Given the description of an element on the screen output the (x, y) to click on. 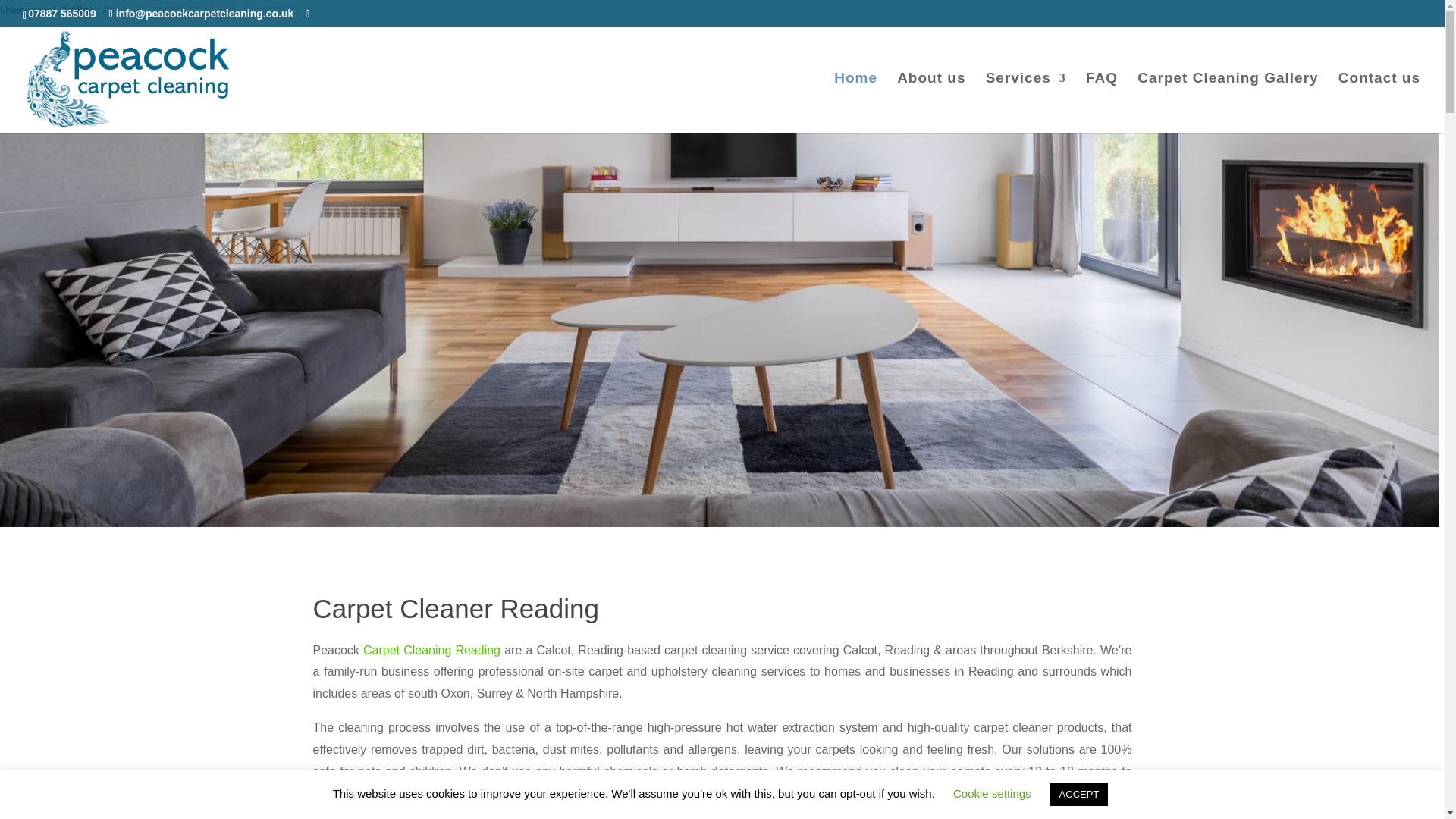
Contact us (1379, 102)
Carpet Cleaning Reading (431, 649)
Services (1025, 102)
Carpet Cleaning Gallery (1227, 102)
About us (930, 102)
